Given the description of an element on the screen output the (x, y) to click on. 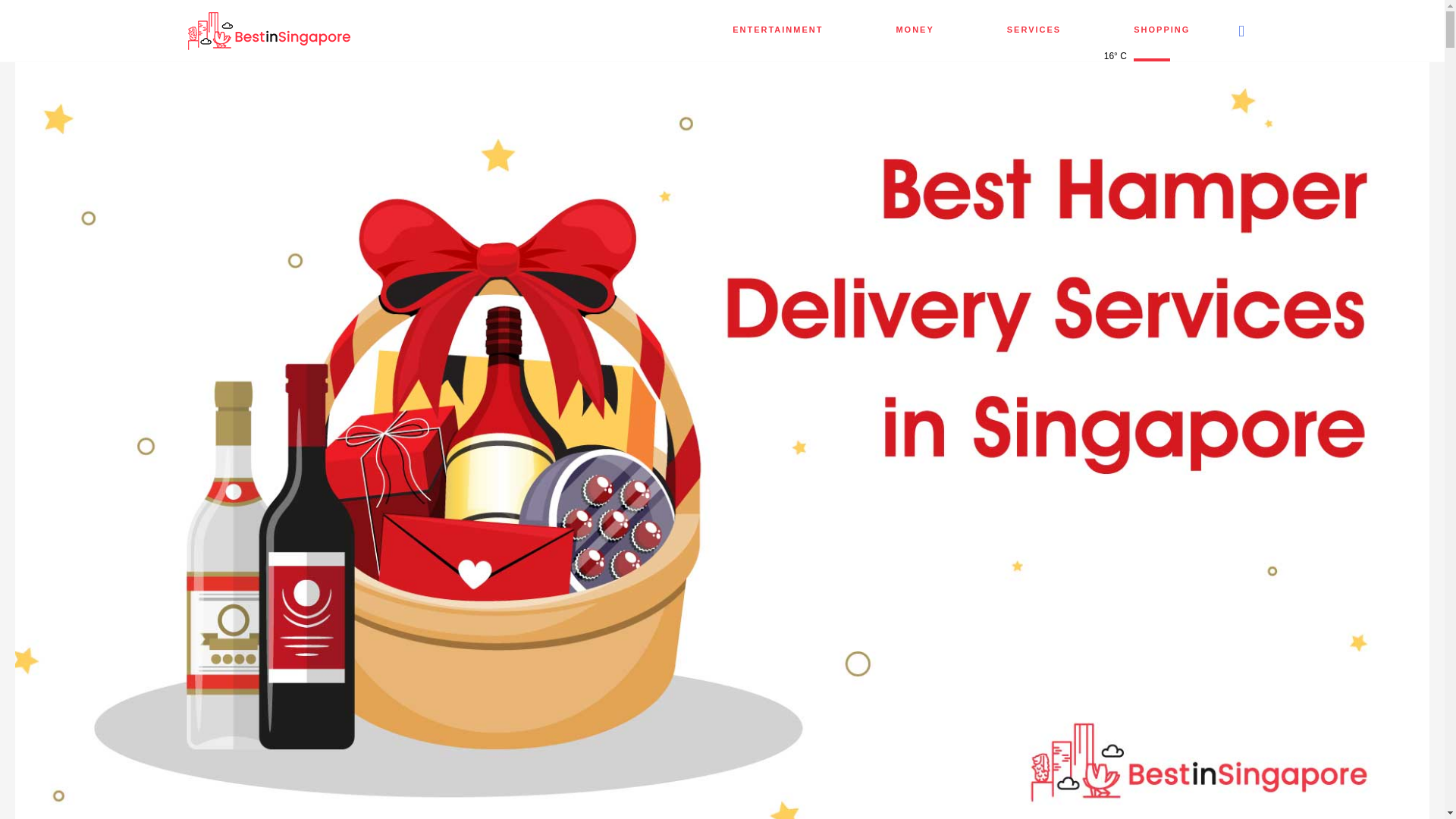
SHOPPING (1161, 29)
SERVICES (1034, 29)
ENTERTAINMENT (777, 29)
